Given the description of an element on the screen output the (x, y) to click on. 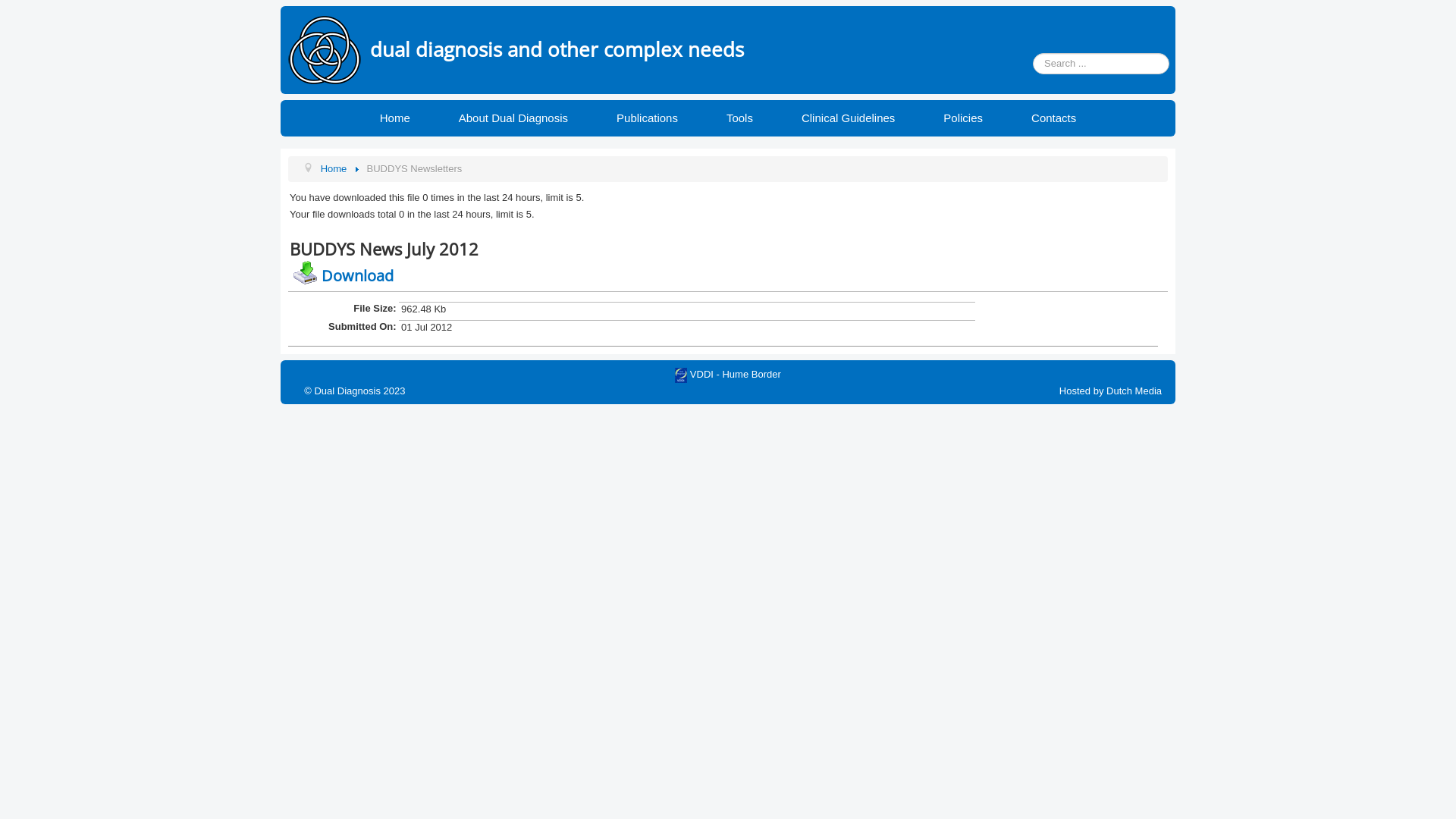
VDDI - Hume Border Element type: hover (680, 374)
Home Element type: text (333, 168)
Contacts Element type: text (1053, 118)
Home Element type: text (394, 118)
About Dual Diagnosis Element type: text (513, 118)
Dutch Media Element type: text (1133, 390)
Publications Element type: text (647, 118)
Clinical Guidelines Element type: text (848, 118)
Policies Element type: text (962, 118)
Tools Element type: text (739, 118)
